Given the description of an element on the screen output the (x, y) to click on. 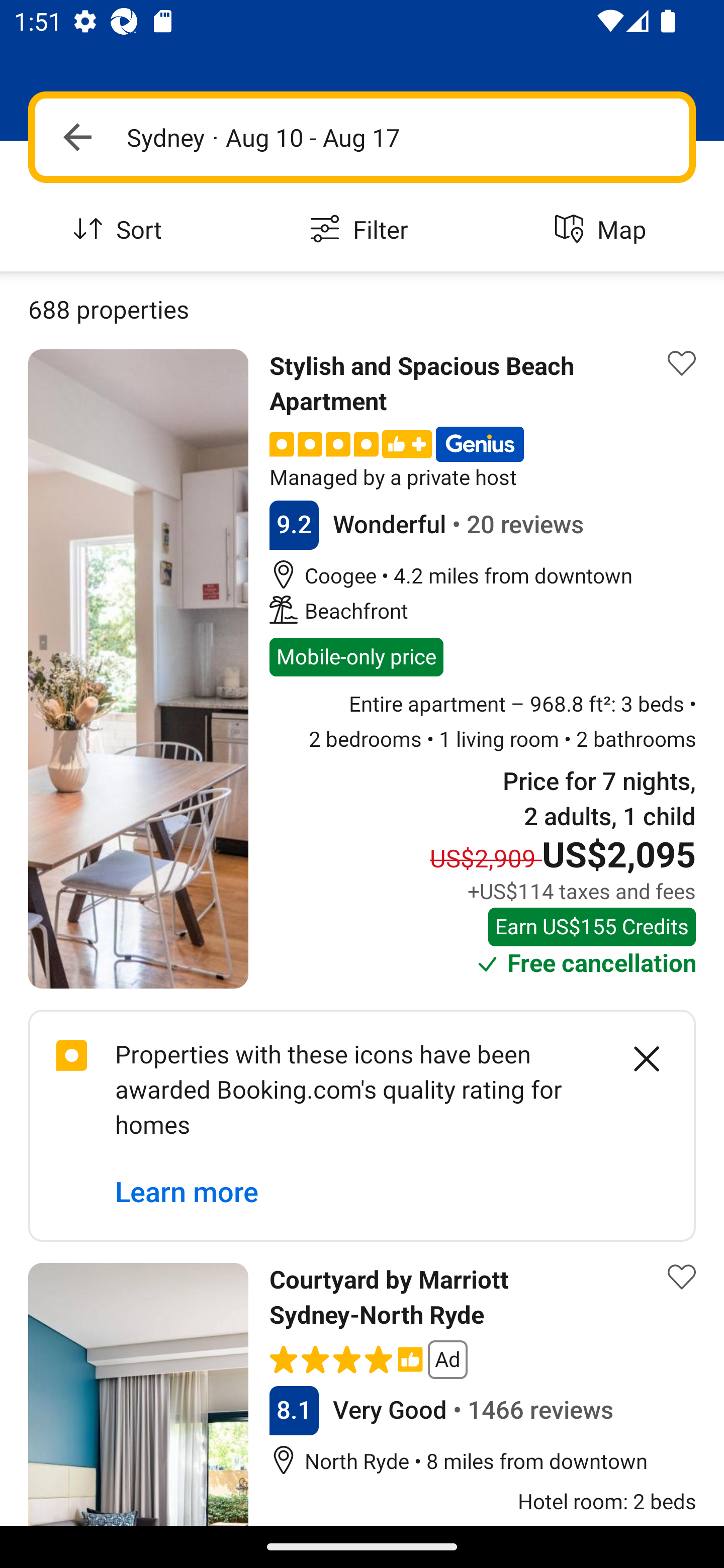
Navigate up Sydney · Aug 10 - Aug 17 (362, 136)
Navigate up (77, 136)
Sort (120, 230)
Filter (361, 230)
Map (603, 230)
Save property to list (681, 363)
Clear (635, 1058)
Learn more (187, 1192)
Save property to list (681, 1276)
